Given the description of an element on the screen output the (x, y) to click on. 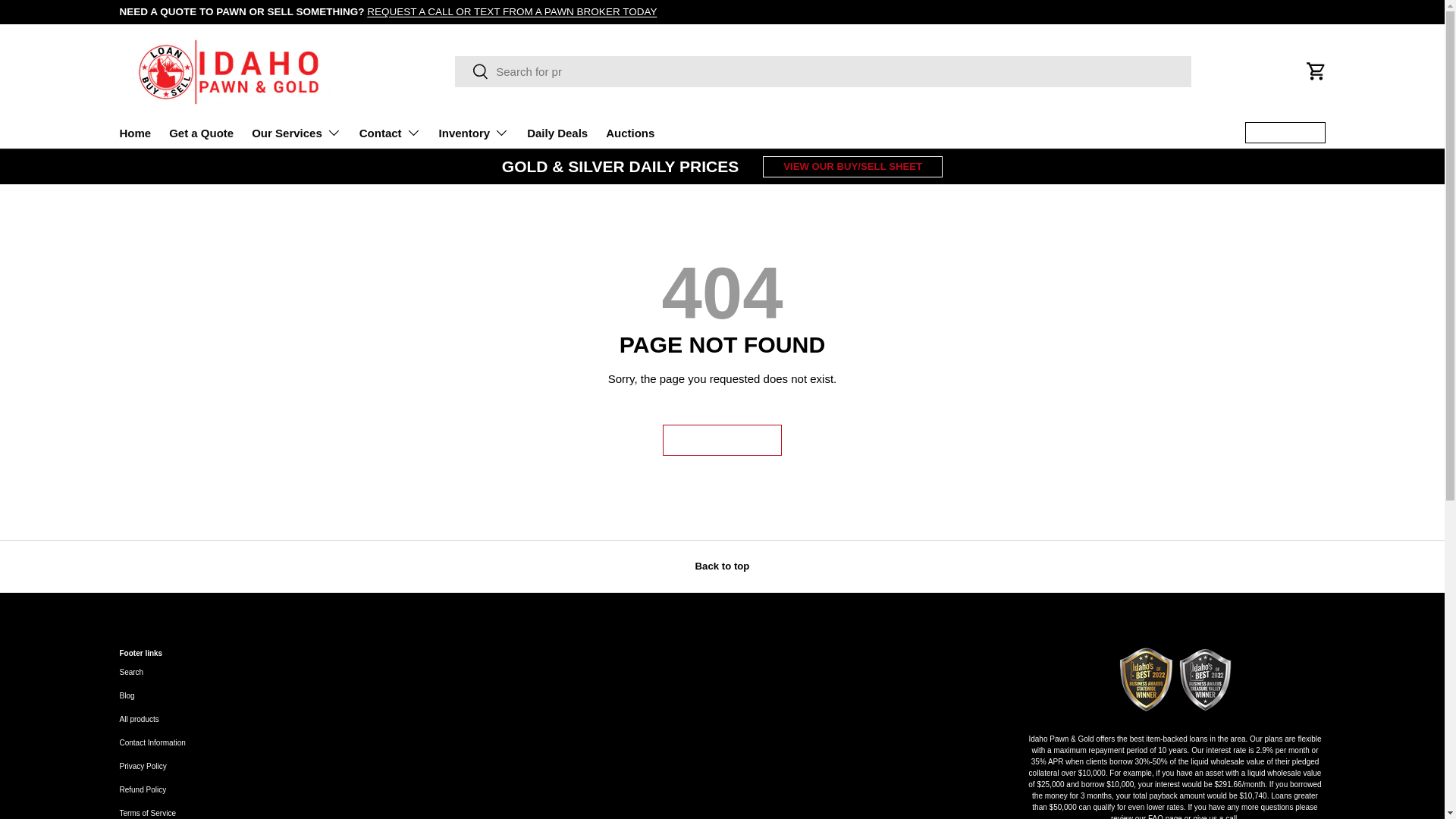
Search (471, 72)
Get a Quote (200, 133)
REQUEST A CALL OR TEXT FROM A PAWN BROKER TODAY (511, 11)
SKIP TO CONTENT (68, 21)
Contact (389, 132)
Our Services (295, 132)
Home (135, 133)
Cart (1316, 70)
